Given the description of an element on the screen output the (x, y) to click on. 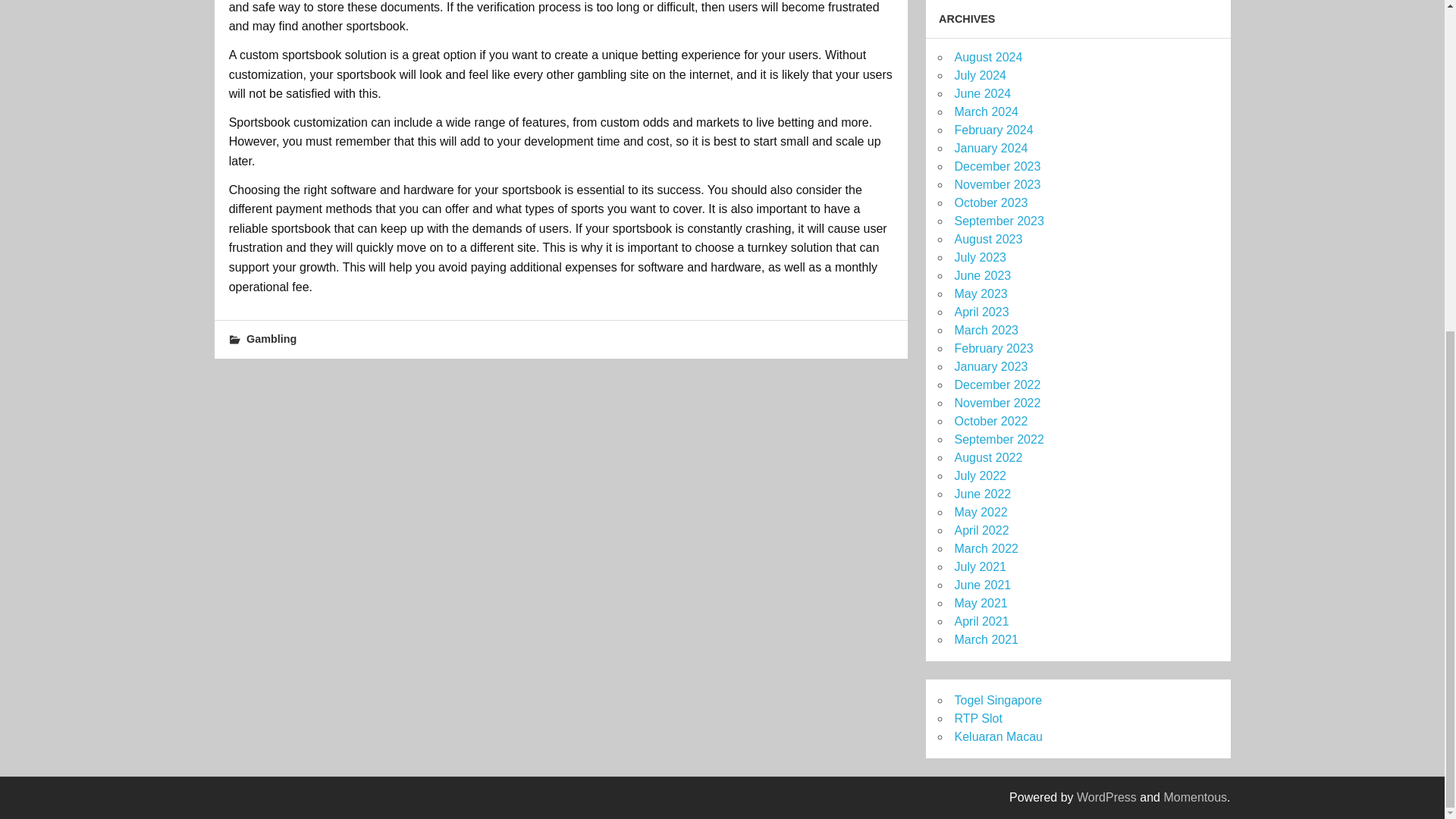
Momentous WordPress Theme (1195, 797)
August 2024 (987, 56)
WordPress (1107, 797)
Gambling (271, 338)
